Given the description of an element on the screen output the (x, y) to click on. 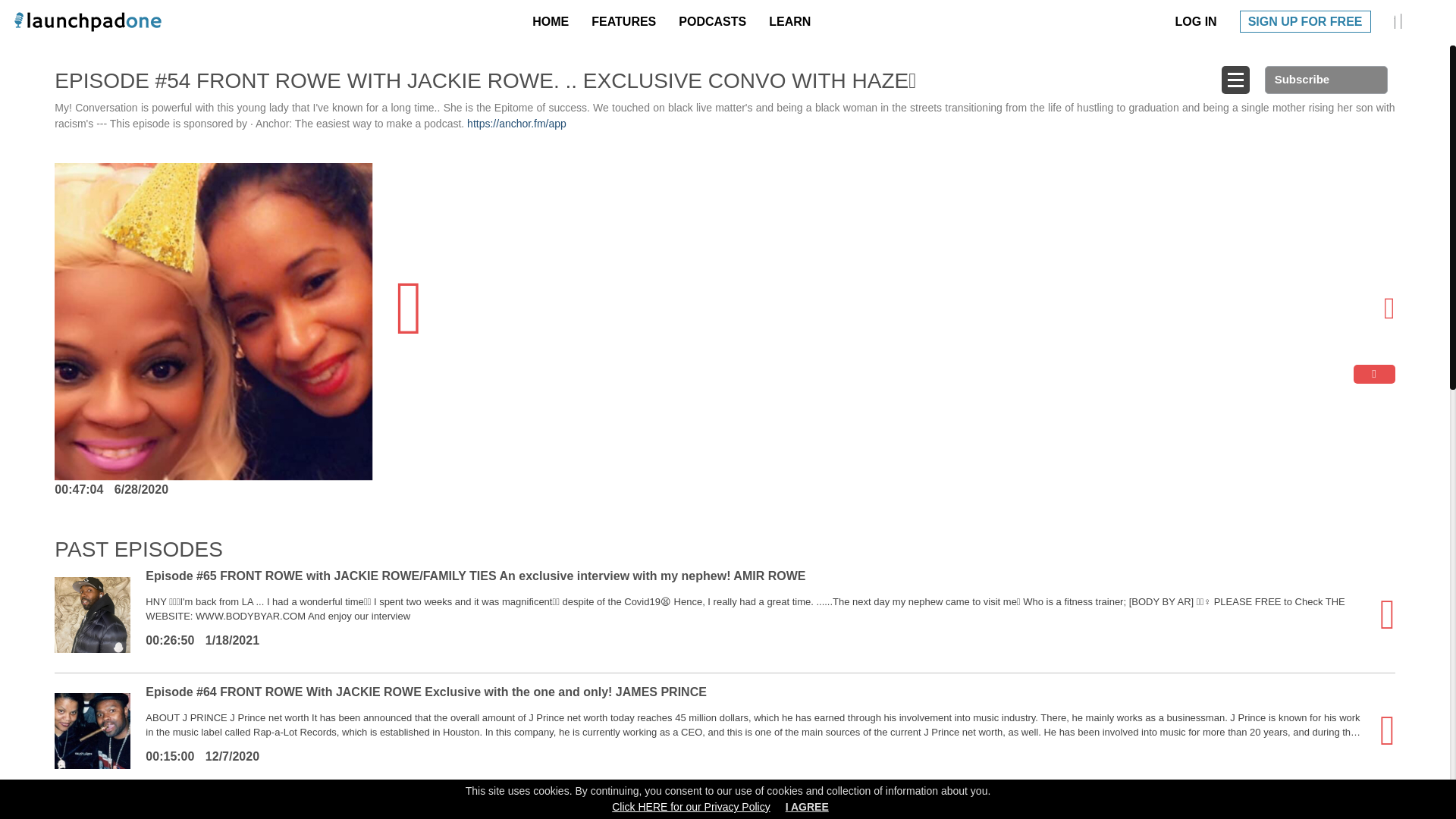
Subscribe (1326, 80)
HOME (554, 21)
LaunchpadOne (87, 22)
SIGN UP FOR FREE (1305, 21)
LEARN (793, 21)
Play (1384, 624)
PODCASTS (716, 21)
LOG IN (1199, 21)
FEATURES (627, 21)
